Given the description of an element on the screen output the (x, y) to click on. 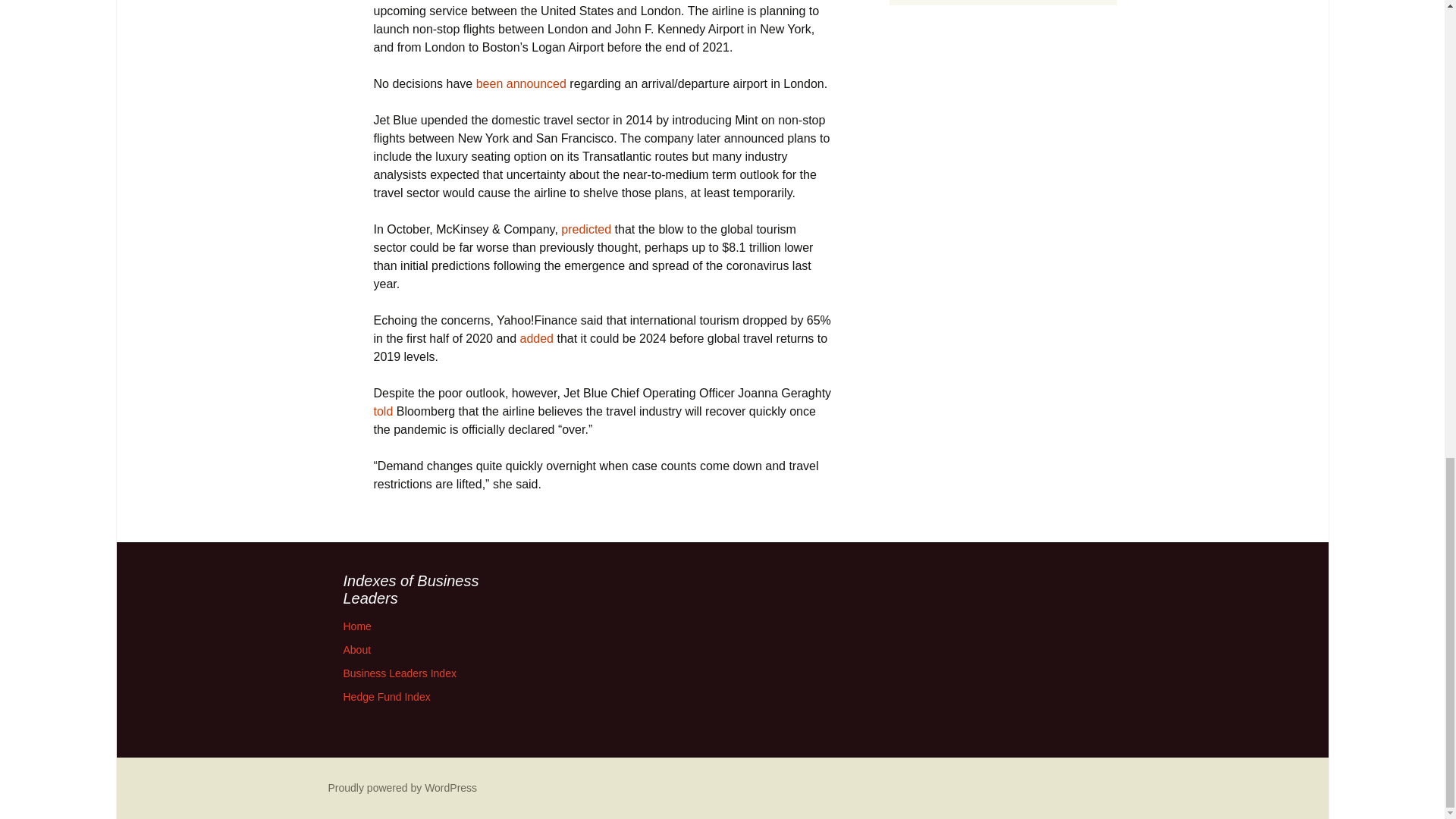
Home (356, 625)
added (536, 338)
told (382, 410)
Hedge Fund Index (385, 696)
Proudly powered by WordPress (402, 787)
Business Leaders Index (398, 673)
been announced (521, 83)
About (356, 649)
predicted (585, 228)
